Given the description of an element on the screen output the (x, y) to click on. 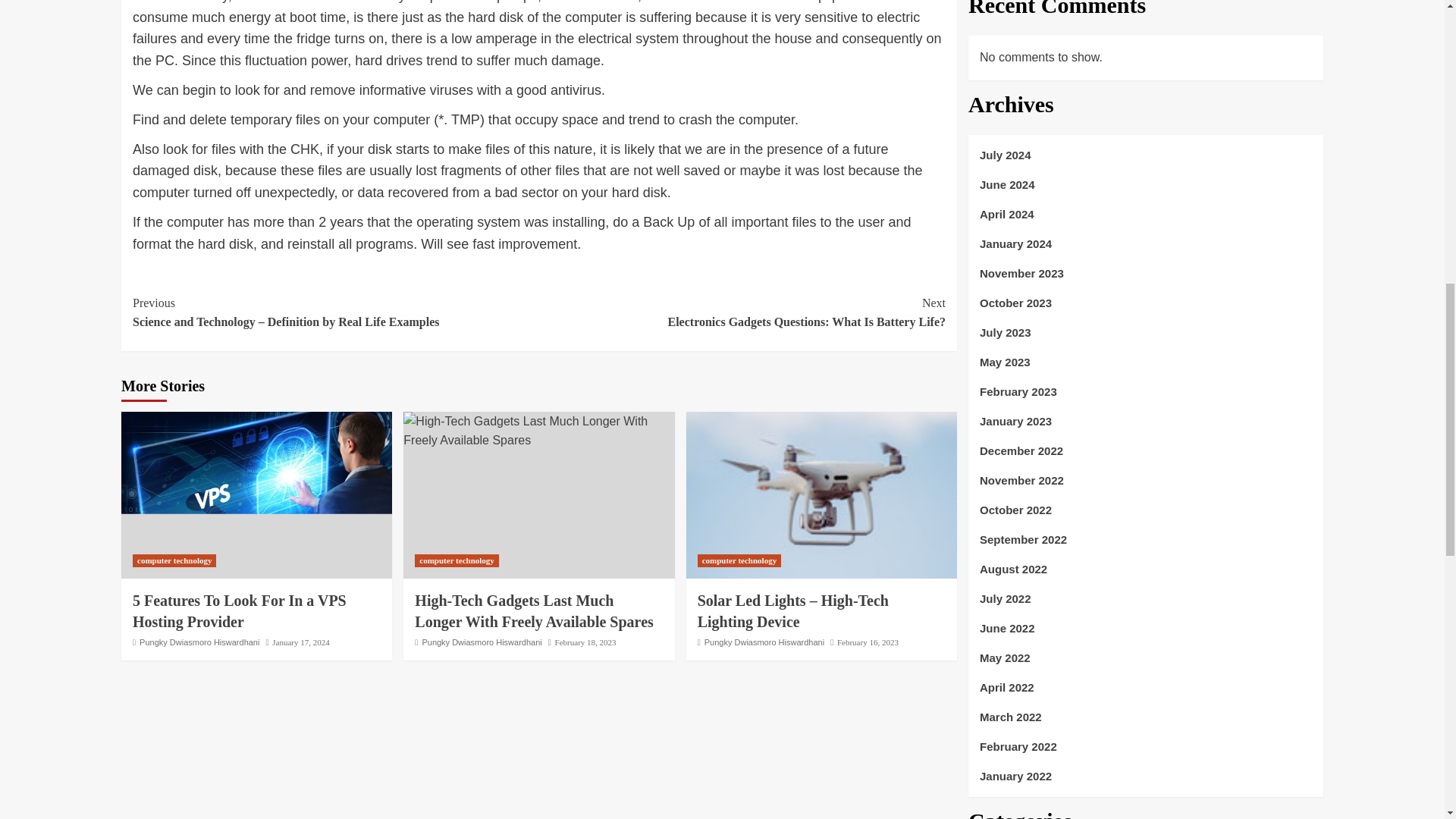
July 2024 (1145, 161)
February 18, 2023 (741, 312)
5 Features To Look For In a VPS Hosting Provider (584, 642)
Pungky Dwiasmoro Hiswardhani (239, 610)
computer technology (764, 642)
computer technology (738, 560)
computer technology (173, 560)
January 17, 2024 (455, 560)
